Given the description of an element on the screen output the (x, y) to click on. 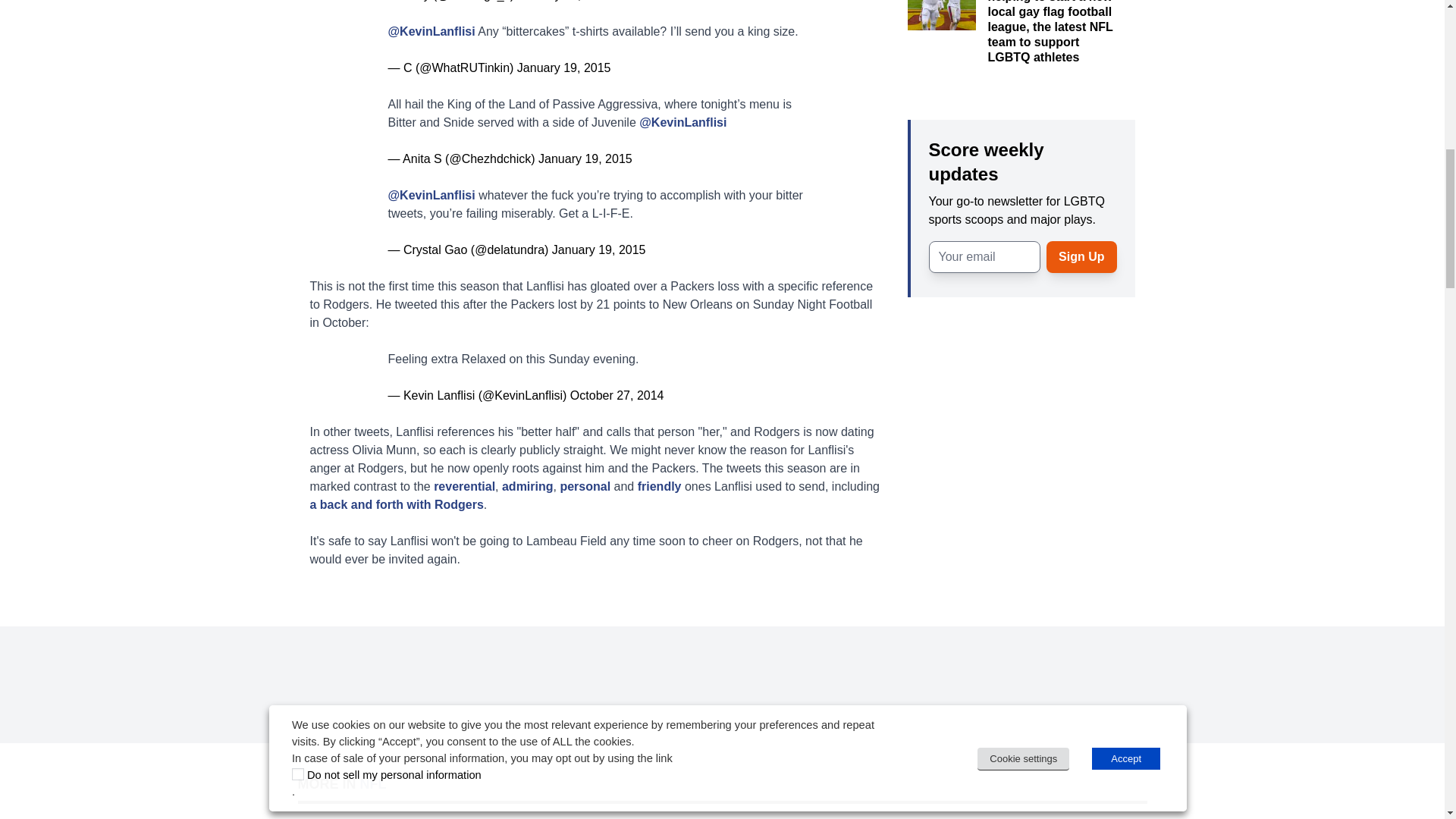
personal (584, 485)
reverential (464, 485)
a back and forth with Rodgers (395, 503)
January 19, 2015 (563, 66)
January 19, 2015 (598, 248)
October 27, 2014 (616, 394)
January 19, 2015 (584, 157)
admiring (527, 485)
friendly (659, 485)
